Given the description of an element on the screen output the (x, y) to click on. 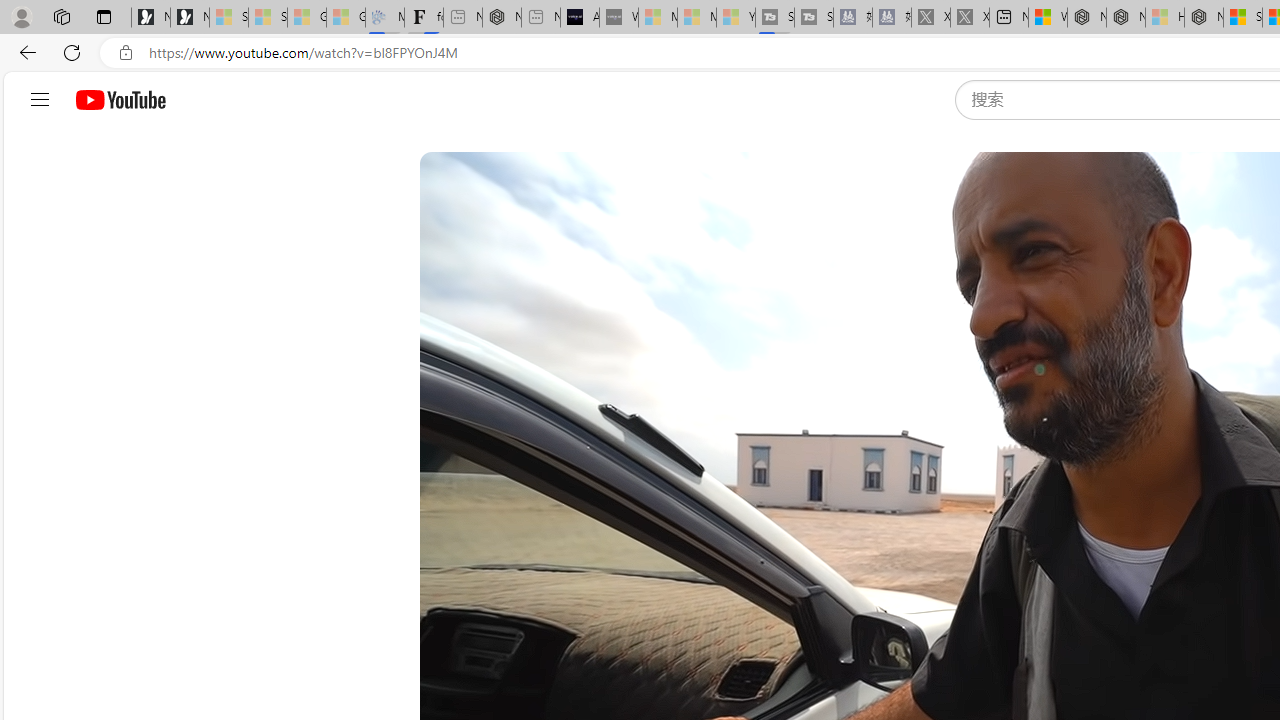
Streaming Coverage | T3 - Sleeping (774, 17)
AI Voice Changer for PC and Mac - Voice.ai (579, 17)
Newsletter Sign Up (189, 17)
What's the best AI voice generator? - voice.ai - Sleeping (618, 17)
New tab - Sleeping (541, 17)
Nordace - #1 Japanese Best-Seller - Siena Smart Backpack (501, 17)
